Given the description of an element on the screen output the (x, y) to click on. 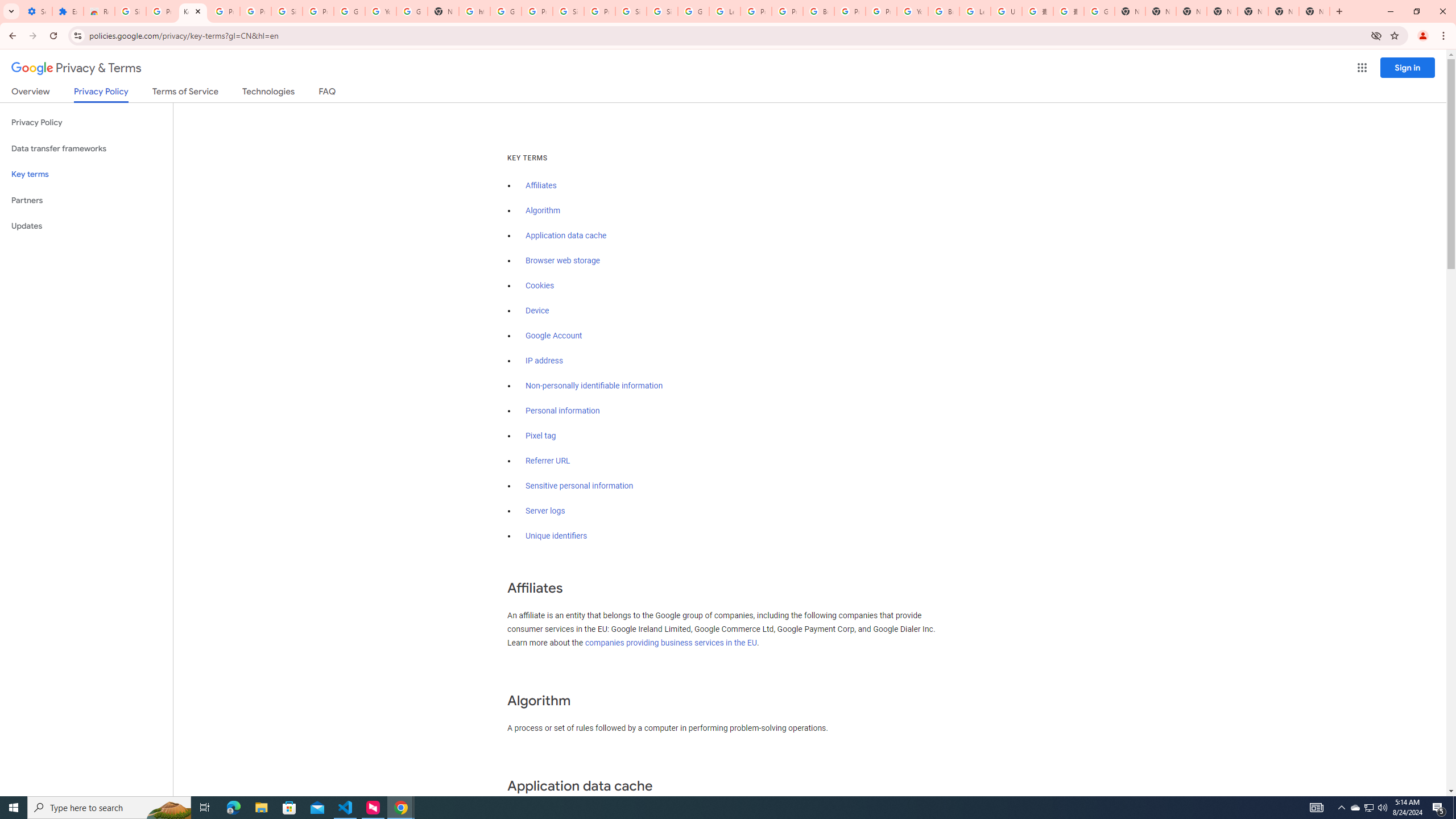
Settings - On startup (36, 11)
Google Images (1098, 11)
companies providing business services in the EU (671, 642)
